Given the description of an element on the screen output the (x, y) to click on. 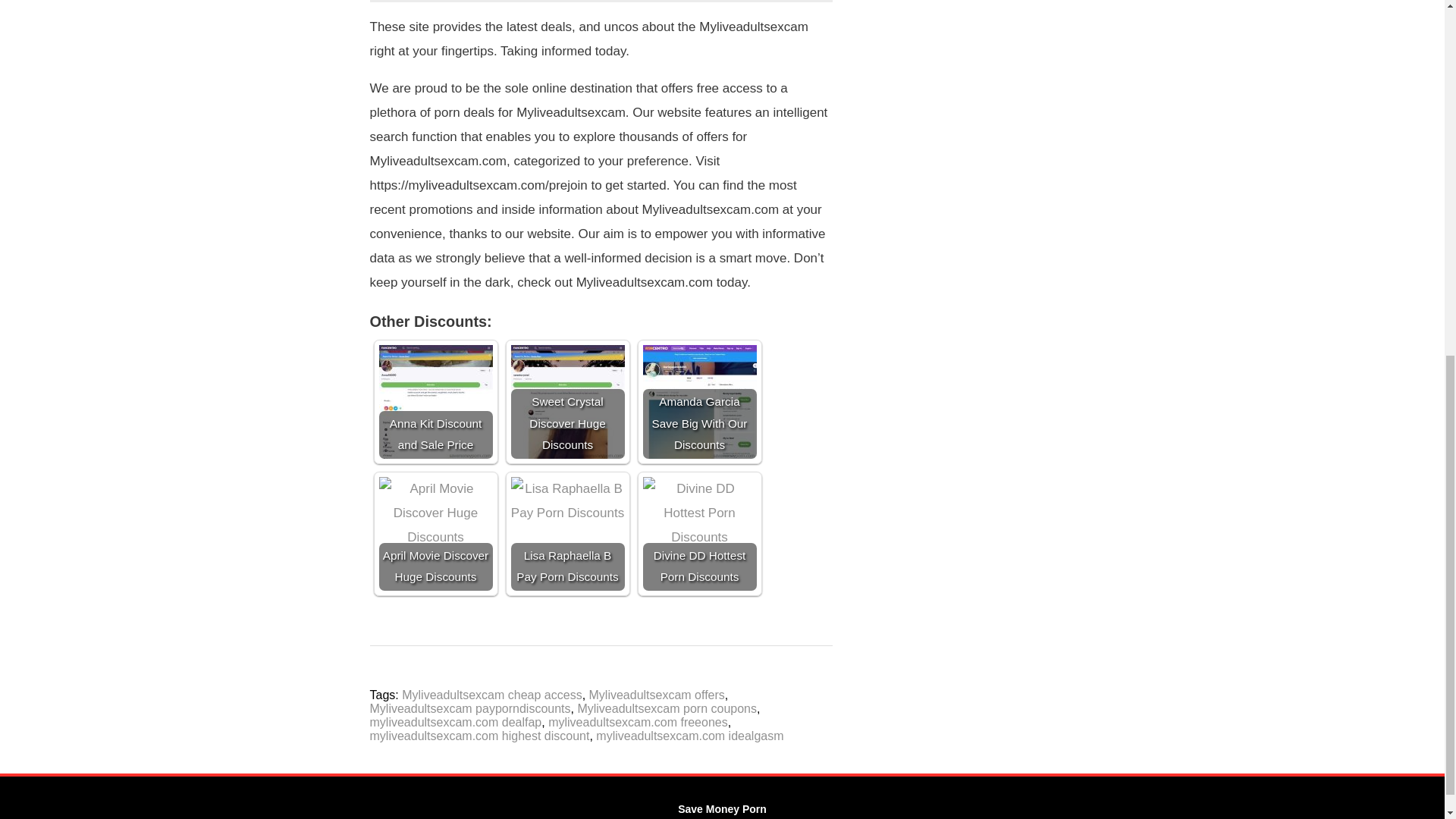
April Movie Discover Huge Discounts (435, 533)
Lisa Raphaella B Pay Porn Discounts (567, 533)
Myliveadultsexcam porn coupons (666, 707)
Divine DD Hottest Porn Discounts (700, 533)
myliveadultsexcam.com freeones (638, 721)
April Movie Discover Huge Discounts (435, 533)
Sweet Crystal Discover Huge Discounts (567, 401)
Anna Kit Discount and Sale Price (435, 401)
Myliveadultsexcam payporndiscounts (469, 707)
myliveadultsexcam.com idealgasm (689, 735)
Myliveadultsexcam cheap access (490, 694)
Divine DD Hottest Porn Discounts (700, 533)
Lisa Raphaella B Pay Porn Discounts (567, 533)
Amanda Garcia Save Big With Our Discounts (700, 401)
Anna Kit Discount and Sale Price (435, 401)
